Given the description of an element on the screen output the (x, y) to click on. 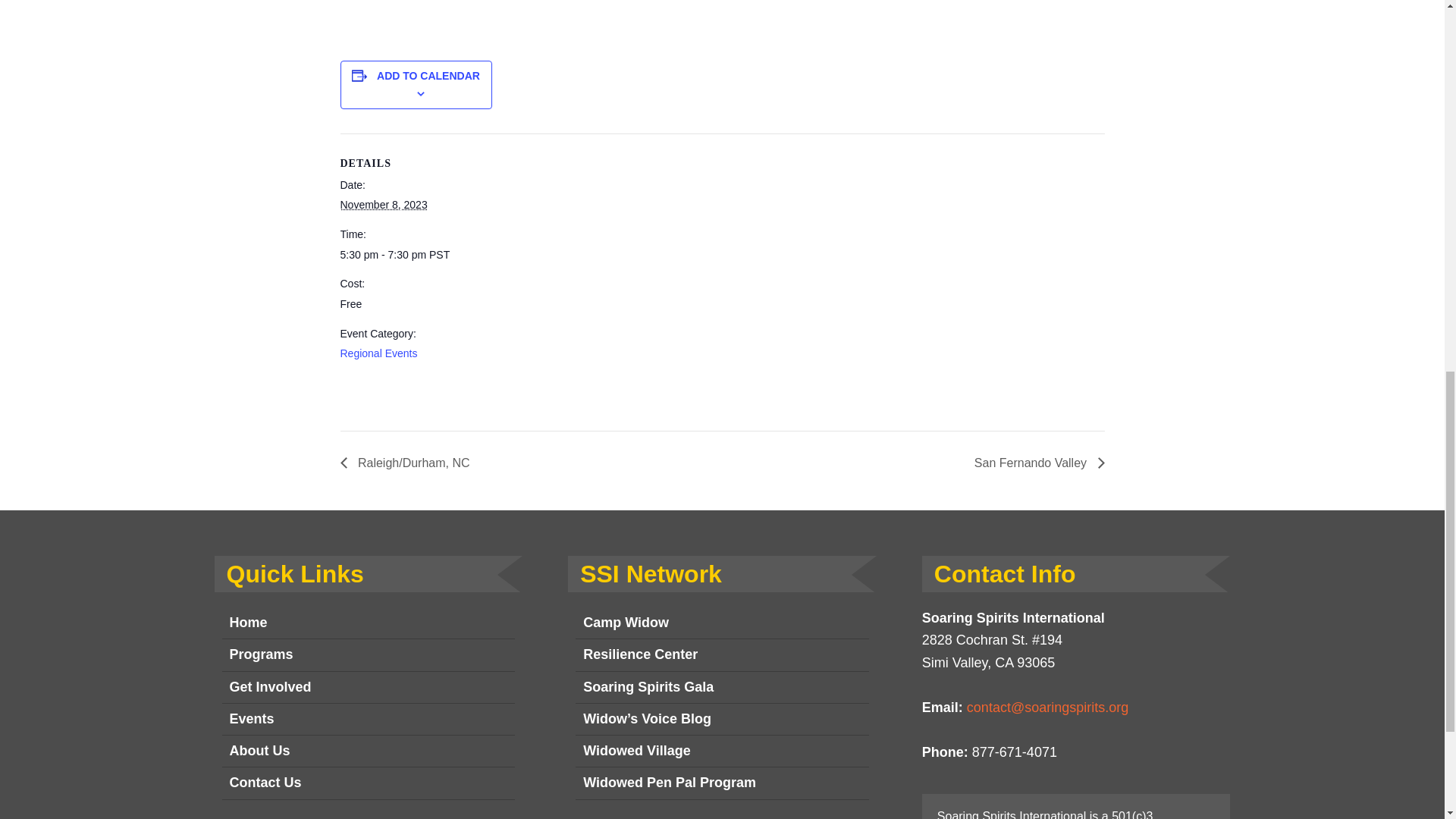
2023-11-08 (382, 204)
2023-11-08 (403, 254)
